Given the description of an element on the screen output the (x, y) to click on. 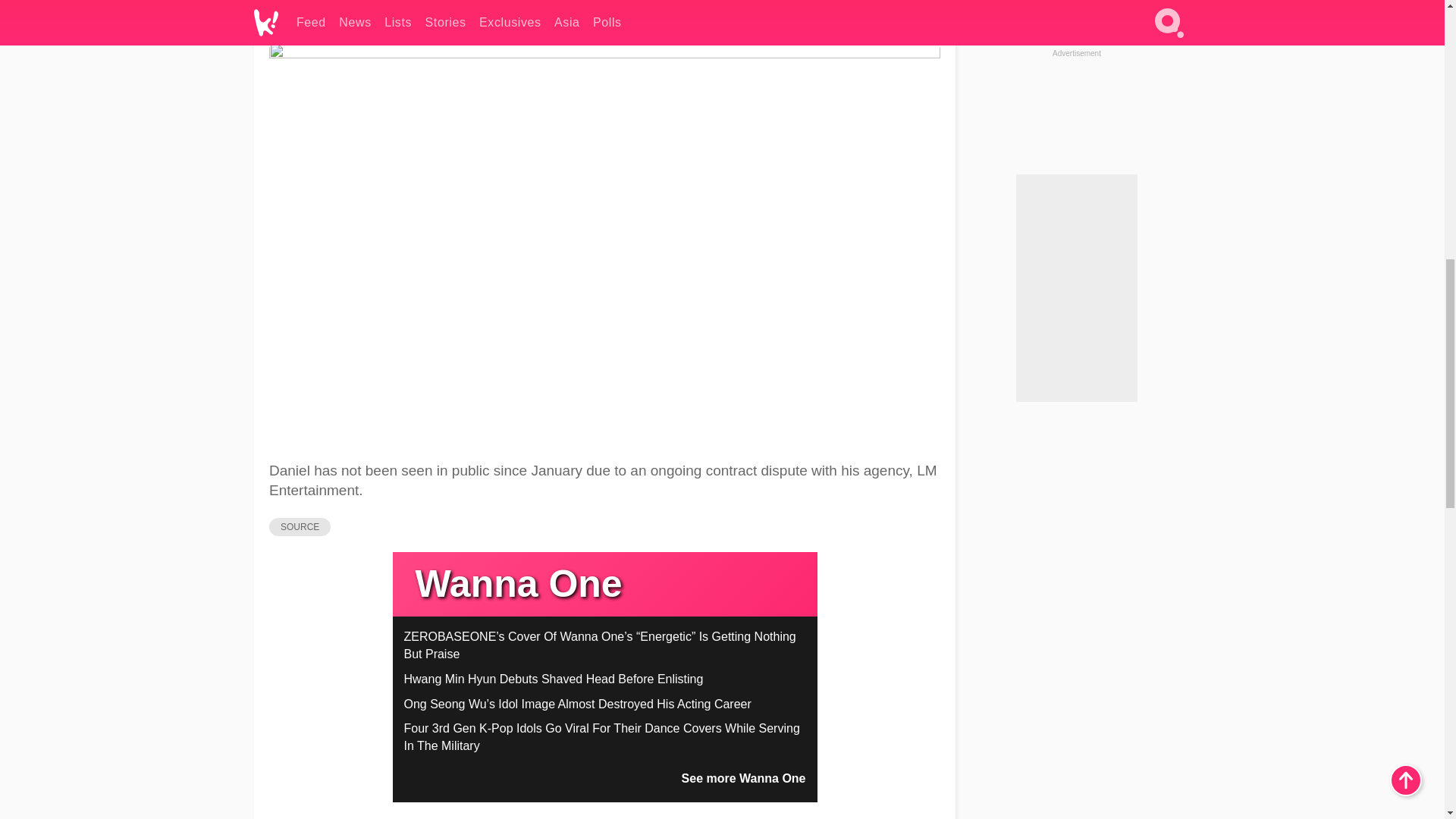
See more Wanna One (743, 778)
Hwang Min Hyun Debuts Shaved Head Before Enlisting (553, 678)
